Given the description of an element on the screen output the (x, y) to click on. 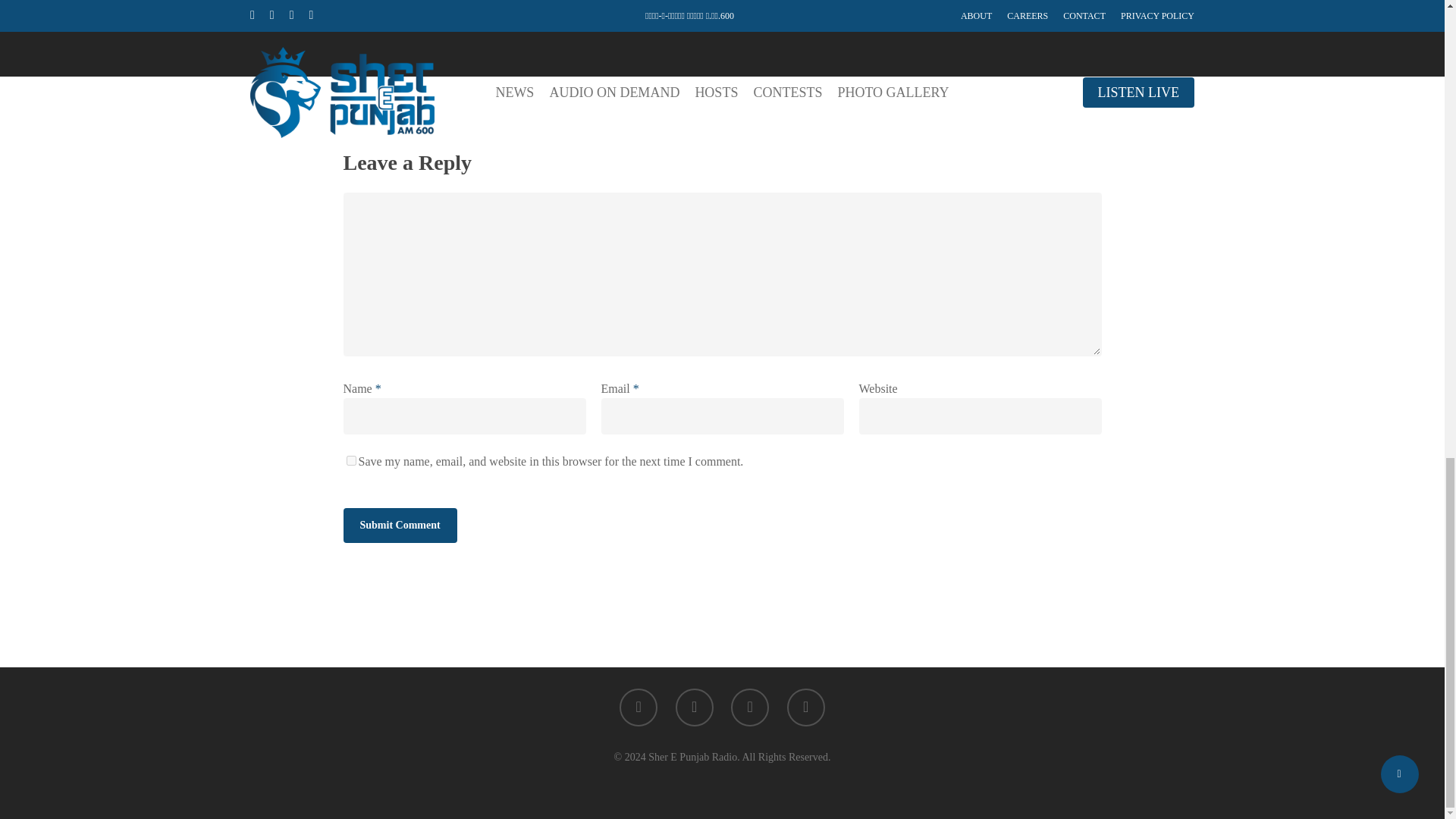
yes (350, 460)
Submit Comment (399, 524)
Submit Comment (399, 524)
